Given the description of an element on the screen output the (x, y) to click on. 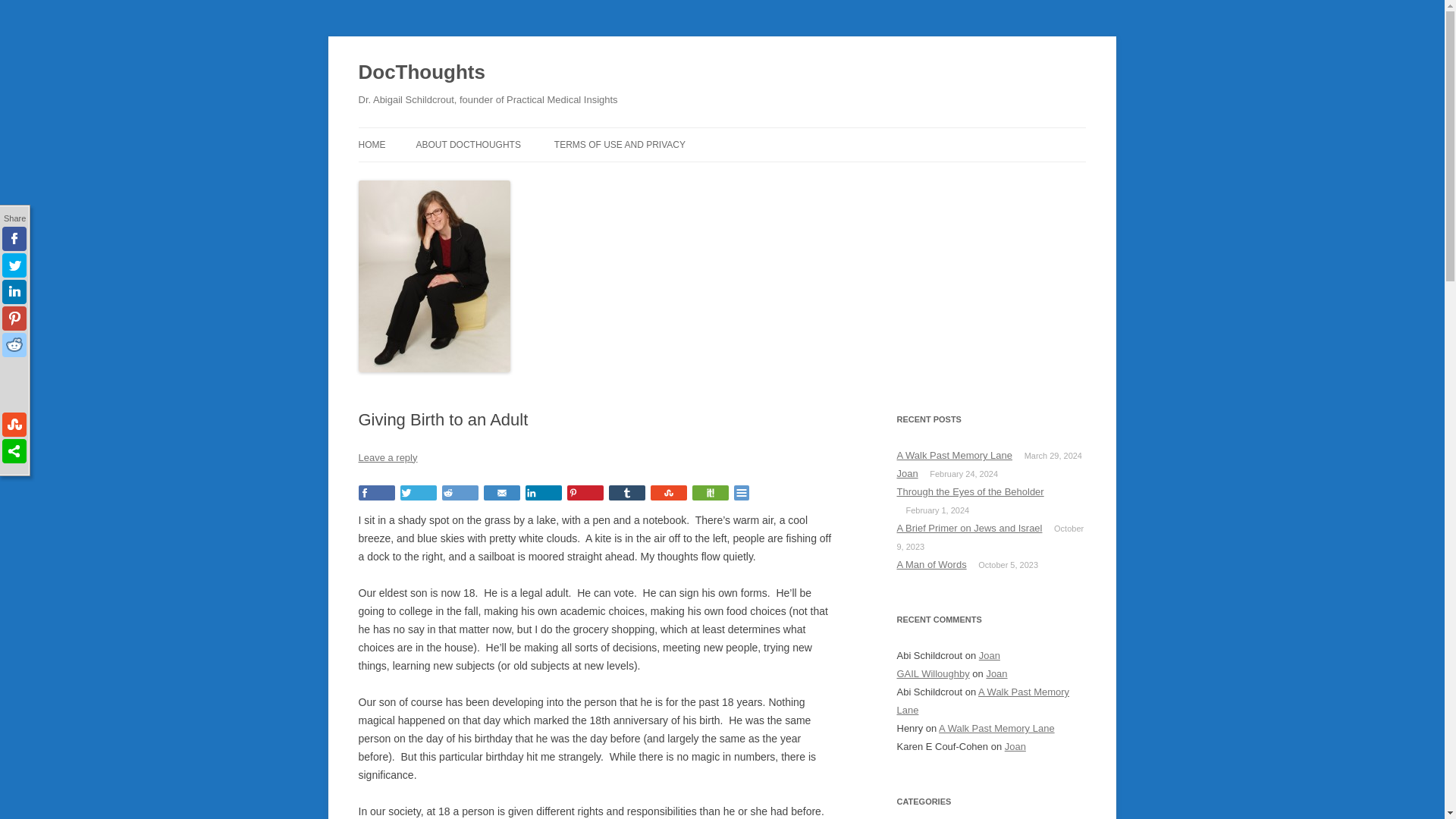
Joan (1015, 746)
TERMS OF USE AND PRIVACY (619, 144)
Email (501, 492)
LinkedIn (542, 492)
A Walk Past Memory Lane (996, 727)
Facebook (376, 492)
Joan (996, 673)
A Walk Past Memory Lane (982, 700)
A Walk Past Memory Lane (953, 455)
Tumblr (626, 492)
A Man of Words (931, 564)
DocThoughts (421, 72)
A Brief Primer on Jews and Israel (969, 527)
GAIL Willoughby (932, 673)
Twitter (418, 492)
